Given the description of an element on the screen output the (x, y) to click on. 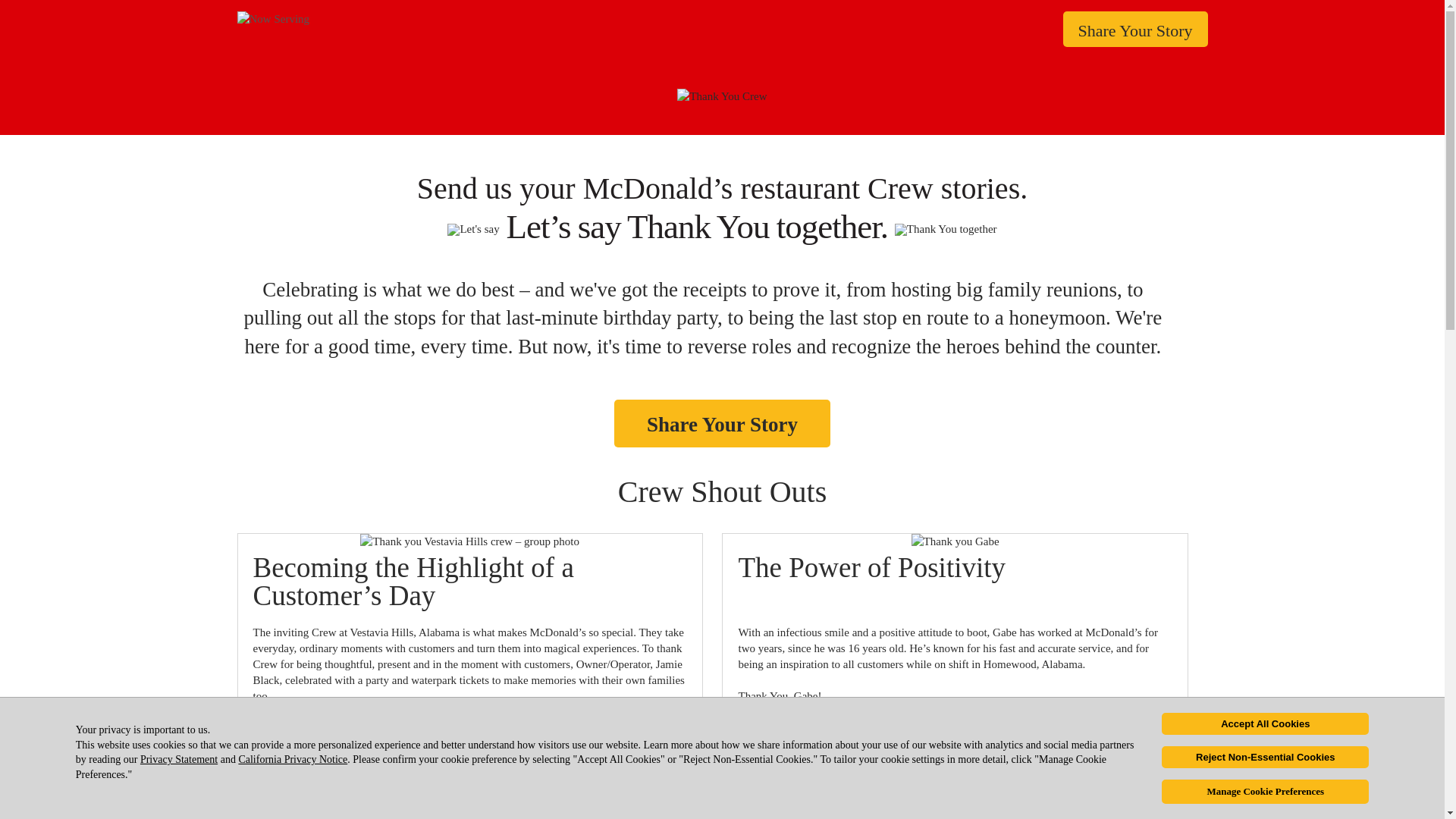
Manage Cookie Preferences (1264, 791)
Share Your Story Button (721, 423)
Reject Non-Essential Cookies (1264, 757)
Share Your Story Navigation Button (1135, 28)
Share Your Story (1135, 28)
Share Your Story (721, 423)
Accept All Cookies (1264, 723)
Read more about Vestavia Hills Crew's story (355, 758)
Read more about Gabe's story (806, 758)
California Privacy Notice (292, 758)
